Given the description of an element on the screen output the (x, y) to click on. 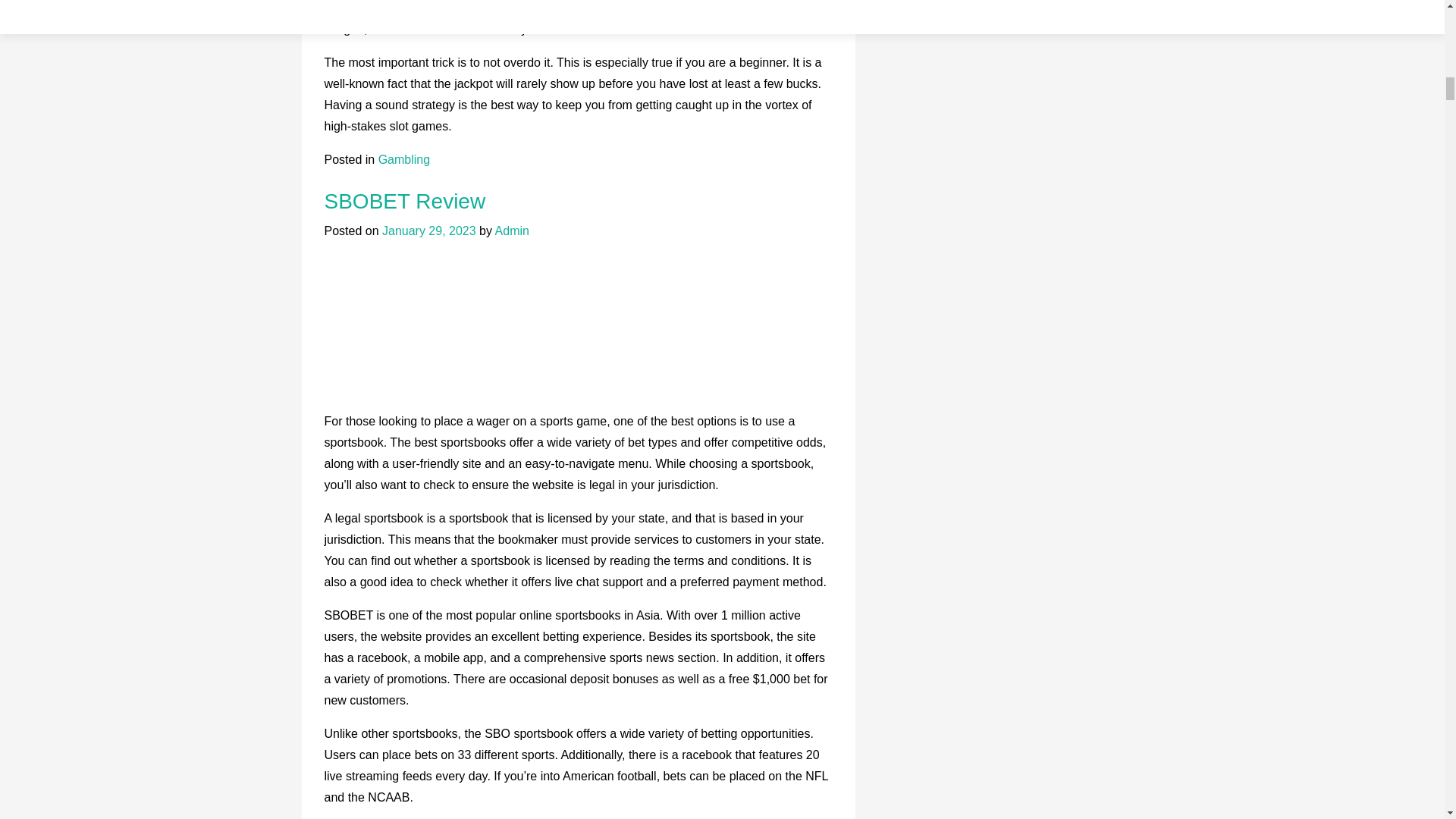
Gambling (403, 159)
January 29, 2023 (428, 230)
Admin (512, 230)
SBOBET Review (405, 200)
